Given the description of an element on the screen output the (x, y) to click on. 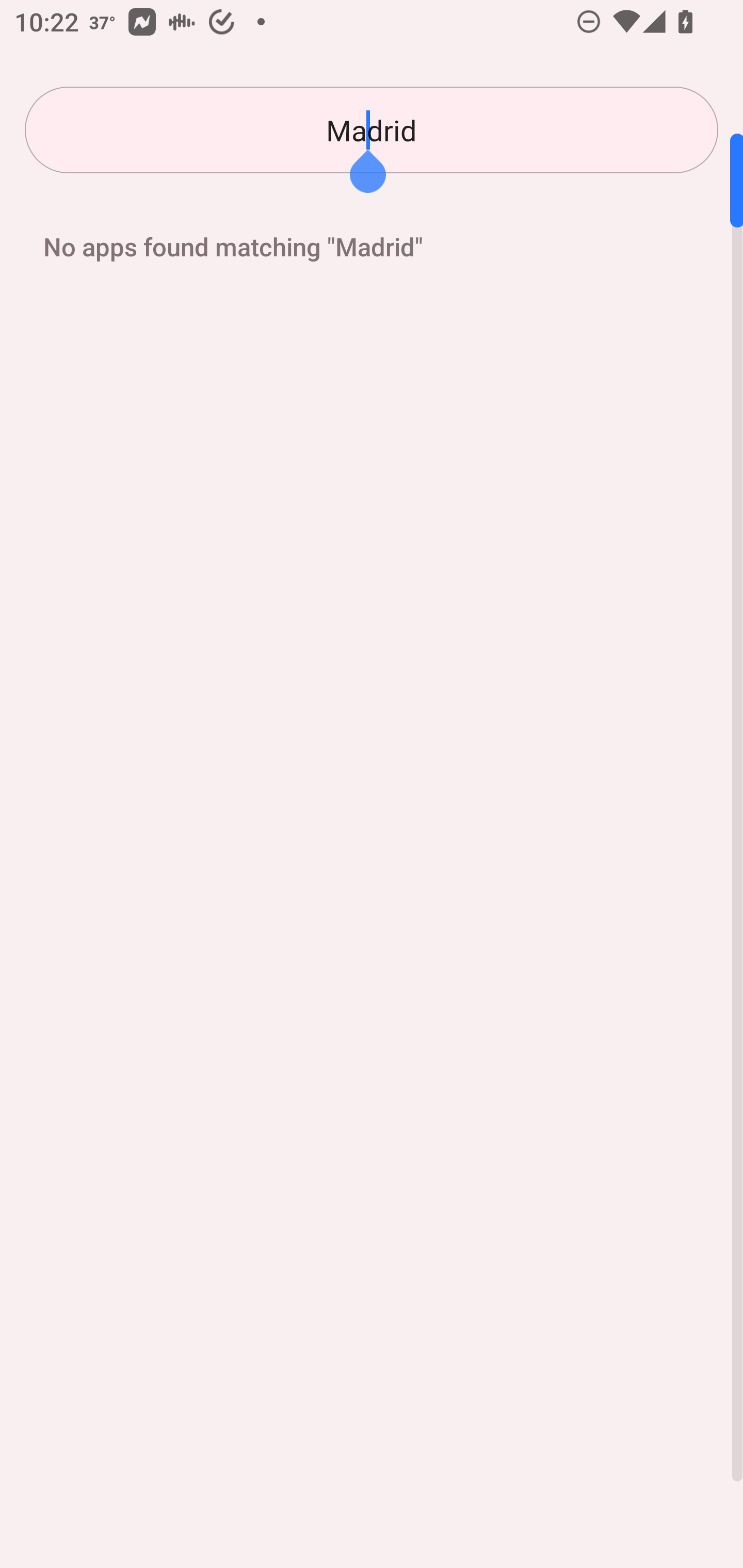
Madrid (371, 130)
